Given the description of an element on the screen output the (x, y) to click on. 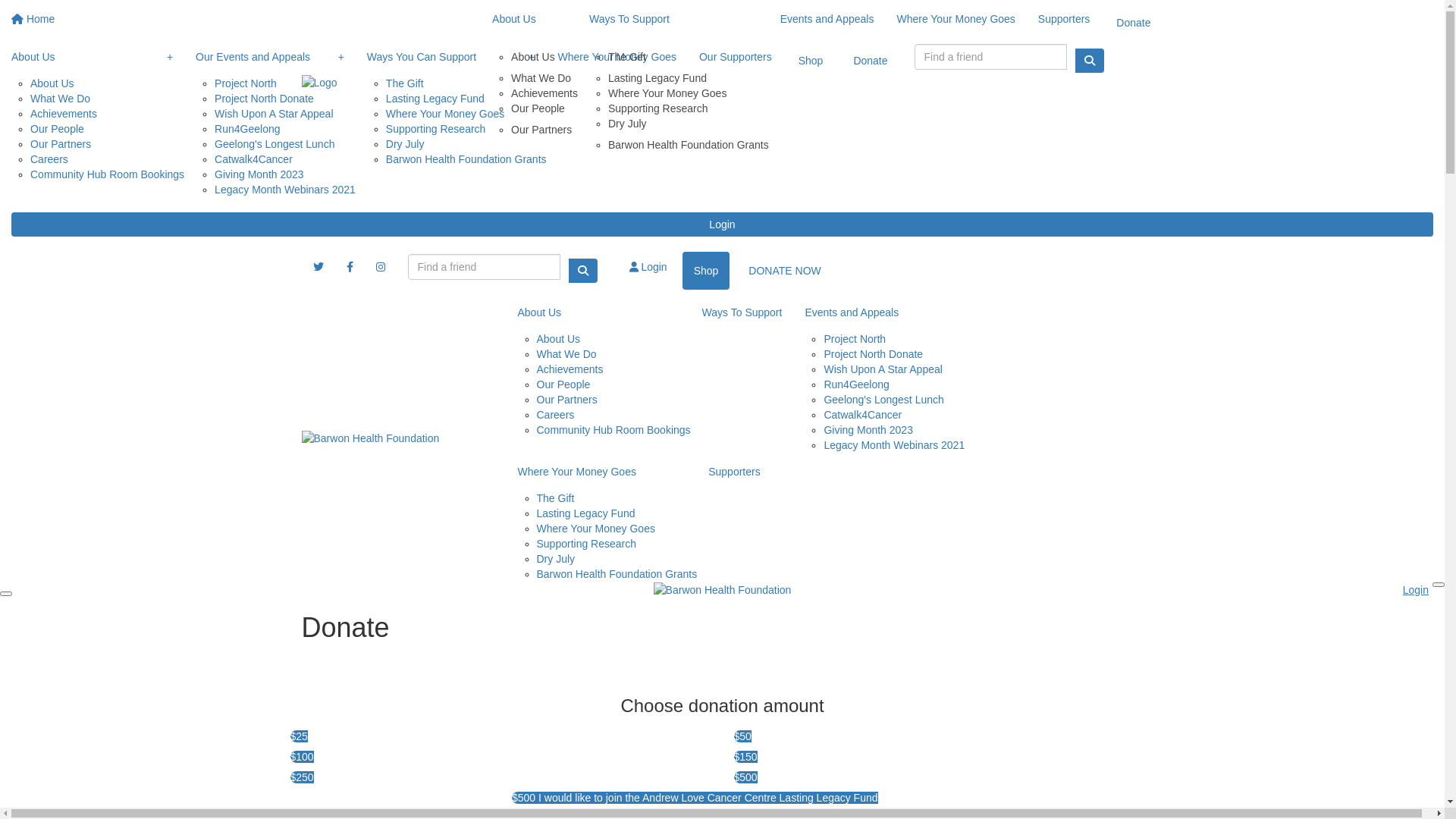
Ways To Support Element type: text (741, 312)
Wish Upon A Star Appeal Element type: text (882, 369)
Shop Element type: text (810, 60)
Project North Element type: text (854, 336)
The Gift Element type: text (688, 53)
Events and Appeals Element type: text (826, 18)
Our Partners Element type: text (566, 399)
Lasting Legacy Fund Element type: text (585, 513)
Our People Element type: text (563, 384)
$100 Element type: text (500, 753)
Barwon Health Foundation Grants Element type: text (616, 576)
Our Supporters Element type: text (735, 56)
Catwalk4Cancer Element type: text (253, 159)
The Gift Element type: text (555, 495)
Dry July Element type: text (404, 144)
Login Element type: text (722, 224)
The Gift Element type: text (404, 80)
Project North Donate Element type: text (263, 98)
Dry July Element type: text (555, 558)
Where Your Money Goes Element type: text (688, 92)
$150 Element type: text (943, 753)
Achievements Element type: text (569, 369)
Project North Element type: text (245, 80)
What We Do Element type: text (60, 98)
About Us Element type: text (528, 18)
Our People Element type: text (544, 108)
Supporting Research Element type: text (586, 543)
Supporters Element type: text (1063, 18)
Donate Element type: text (869, 60)
Our People Element type: text (57, 128)
Barwon Health Foundation Grants Element type: text (465, 161)
Careers Element type: text (555, 414)
DONATE NOW Element type: text (784, 270)
Geelong's Longest Lunch Element type: text (274, 144)
Giving Month 2023 Element type: text (868, 429)
What We Do Element type: text (544, 77)
Lasting Legacy Fund Element type: text (688, 77)
Supporting Research Element type: text (688, 108)
Legacy Month Webinars 2021 Element type: text (284, 192)
Supporting Research Element type: text (435, 128)
Login Element type: text (1415, 589)
Where Your Money Goes Element type: text (444, 113)
Where Your Money Goes Element type: text (955, 18)
Our Partners Element type: text (544, 132)
Where Your Money Goes Element type: text (601, 471)
Events and Appeals Element type: text (878, 312)
Community Hub Room Bookings Element type: text (107, 176)
Login Element type: text (647, 266)
Run4Geelong Element type: text (855, 384)
Giving Month 2023 Element type: text (259, 174)
Shop Element type: text (706, 270)
Wish Upon A Star Appeal Element type: text (273, 113)
Achievements Element type: text (63, 113)
Careers Element type: text (49, 159)
Run4Geelong Element type: text (246, 128)
Logo Element type: hover (318, 81)
Where Your Money Goes Element type: text (595, 528)
Ways You Can Support
+ Element type: text (450, 56)
About Us Element type: text (558, 336)
Our Events and Appeals
+ Element type: text (269, 56)
$500 Element type: text (943, 774)
Achievements Element type: text (544, 92)
$25 Element type: text (500, 733)
Home Element type: text (32, 18)
Catwalk4Cancer Element type: text (862, 414)
Barwon Health Foundation Grants Element type: text (688, 147)
Dry July Element type: text (688, 123)
Project North Donate Element type: text (872, 354)
Donate Element type: text (1132, 22)
About Us Element type: text (544, 53)
$250 Element type: text (500, 774)
Supporters Element type: text (733, 471)
$50 Element type: text (943, 733)
About Us
+ Element type: text (92, 56)
Community Hub Room Bookings Element type: text (613, 432)
Ways To Support Element type: text (672, 18)
About Us Element type: text (52, 80)
Geelong's Longest Lunch Element type: text (883, 399)
Lasting Legacy Fund Element type: text (434, 98)
About Us Element type: text (598, 312)
Legacy Month Webinars 2021 Element type: text (893, 447)
Where Your Money Goes Element type: text (616, 56)
What We Do Element type: text (566, 354)
Our Partners Element type: text (60, 144)
